Given the description of an element on the screen output the (x, y) to click on. 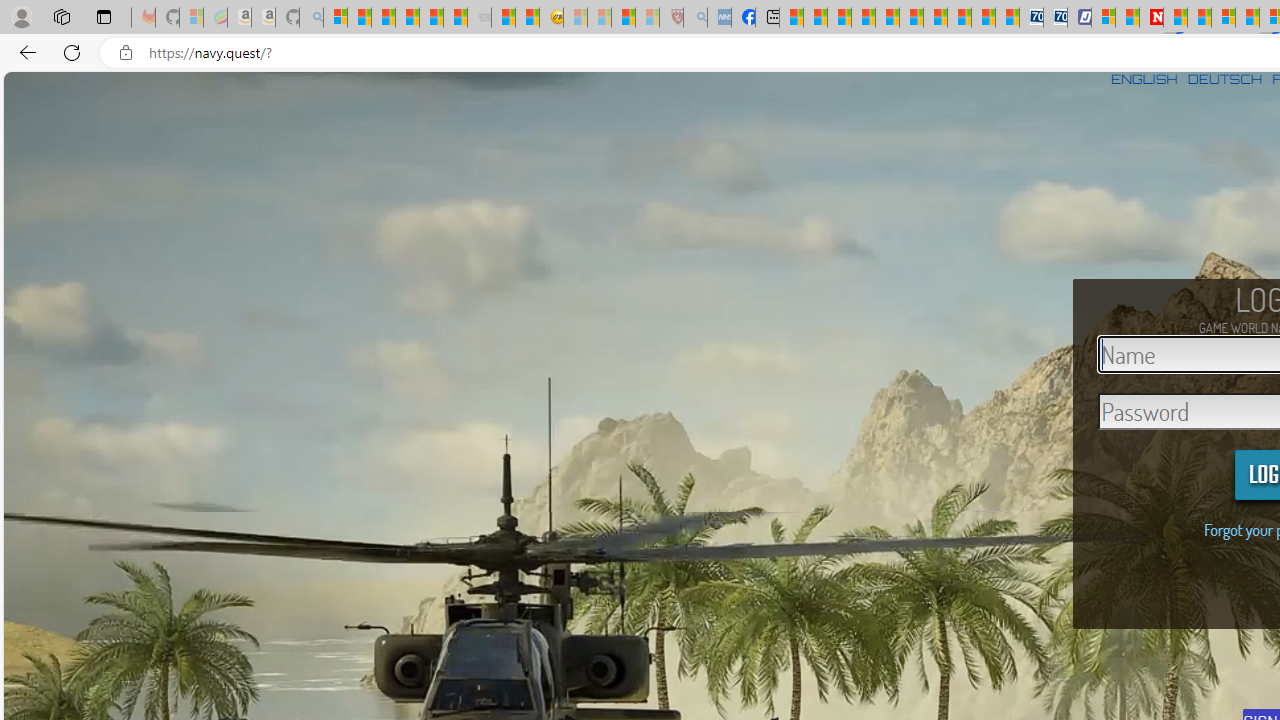
The Weather Channel - MSN (383, 17)
Combat Siege - Sleeping (479, 17)
New Report Confirms 2023 Was Record Hot | Watch (430, 17)
Cheap Hotels - Save70.com (1055, 17)
